Given the description of an element on the screen output the (x, y) to click on. 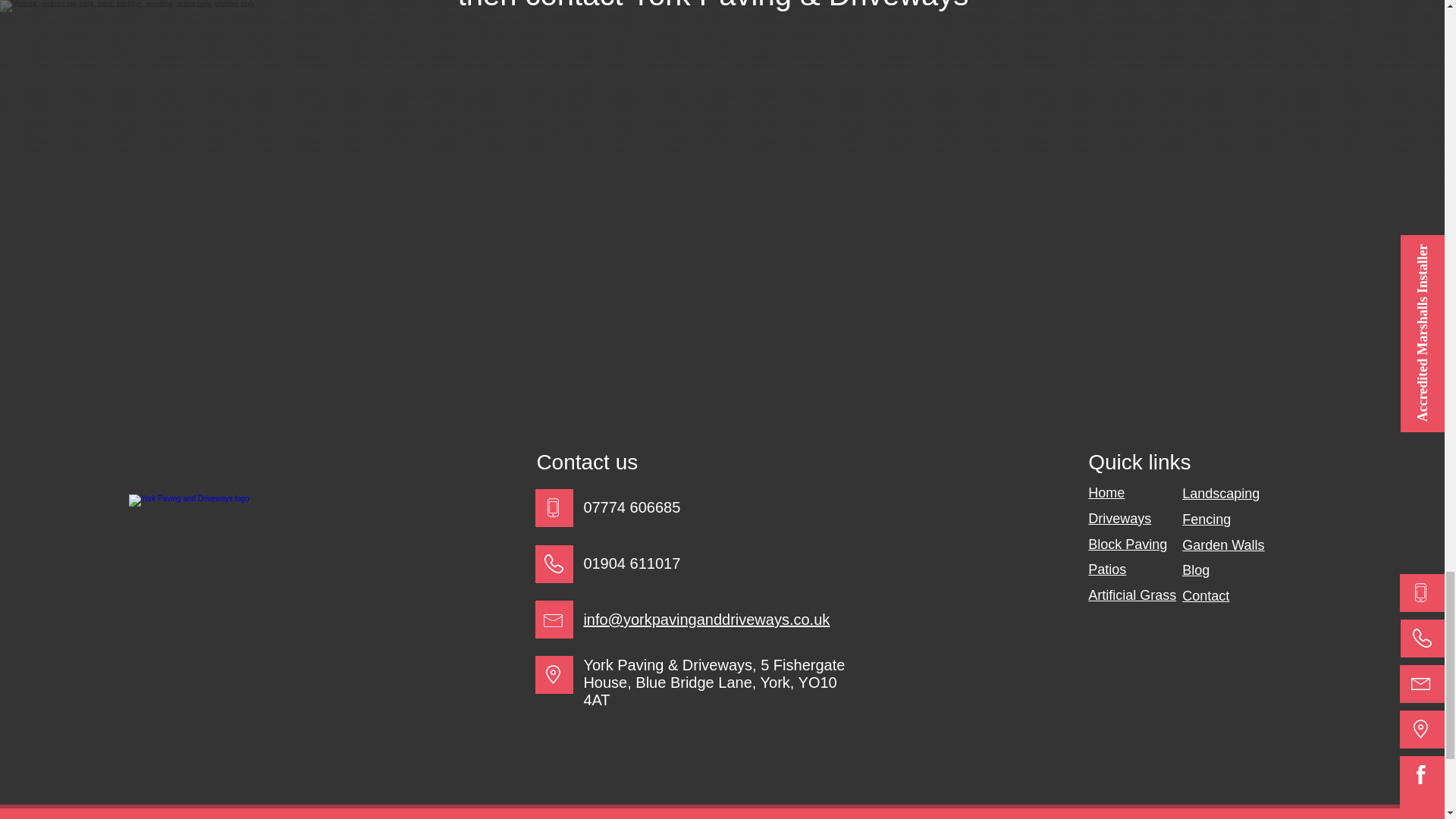
Block Paving (1127, 544)
Landscaping (1220, 493)
Artificial Grass (1131, 595)
Driveways (1119, 518)
Home (1105, 492)
Patios (1106, 569)
